Given the description of an element on the screen output the (x, y) to click on. 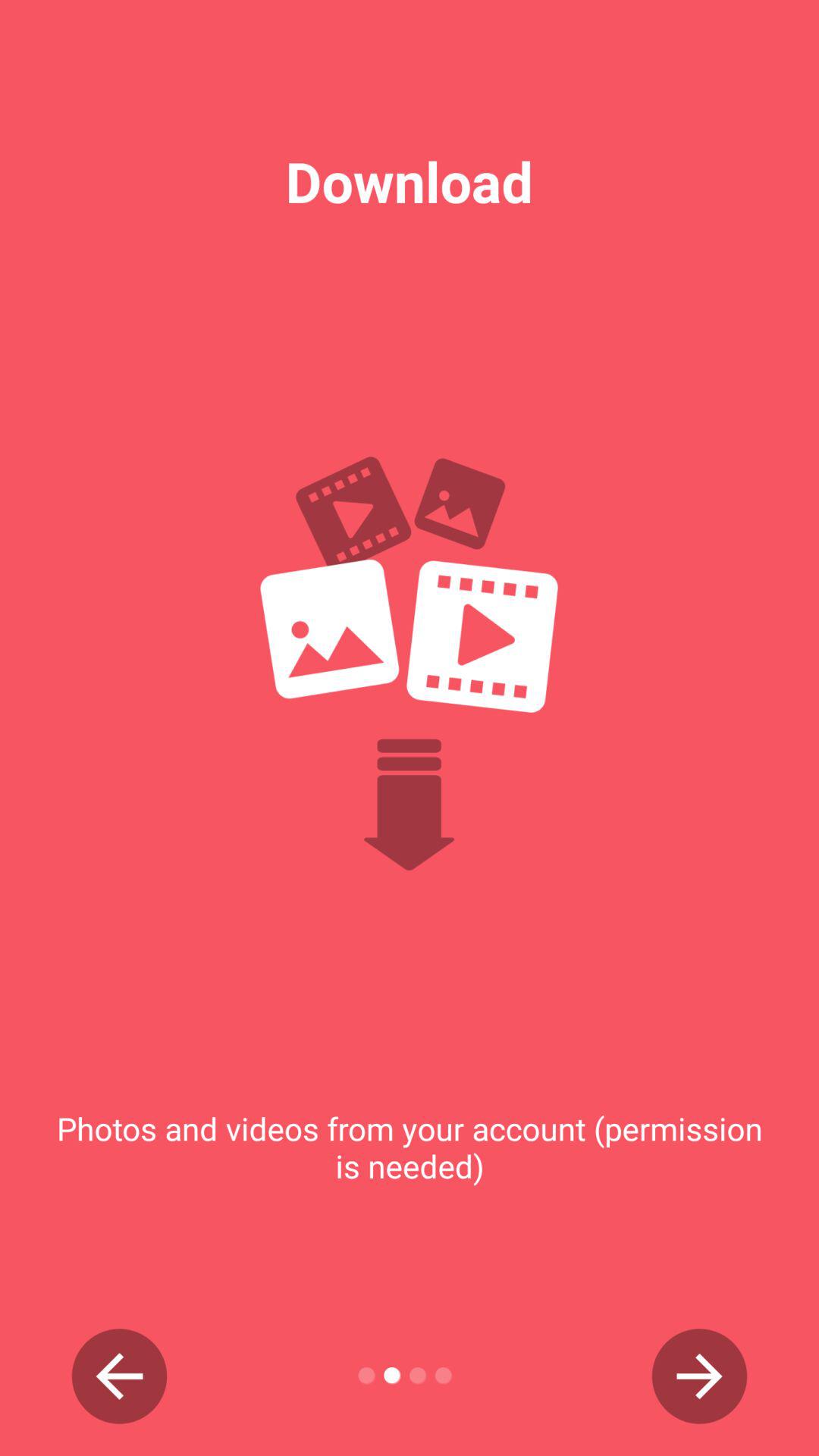
turn off item below the photos and videos (699, 1376)
